Given the description of an element on the screen output the (x, y) to click on. 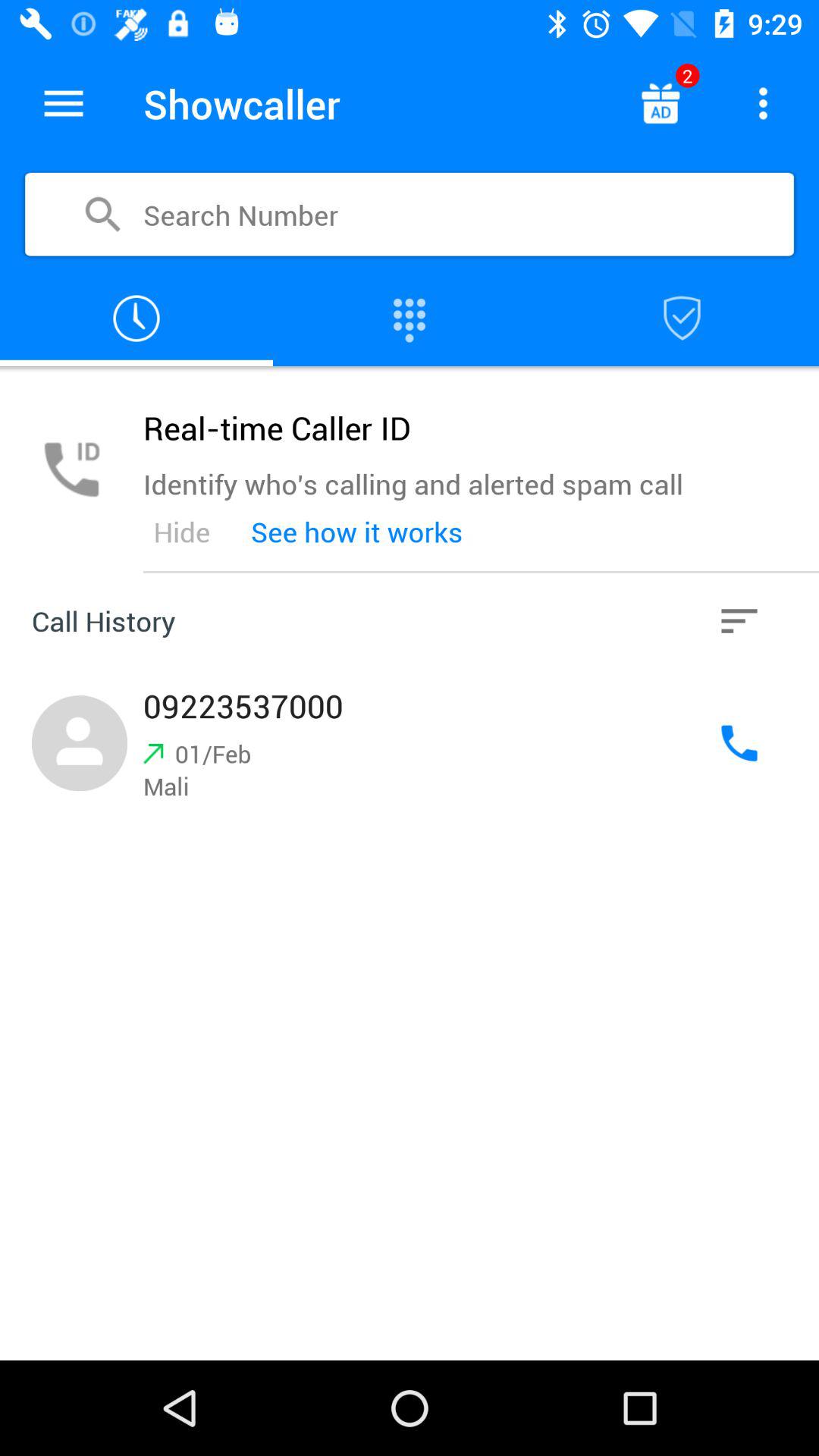
other options (739, 620)
